Given the description of an element on the screen output the (x, y) to click on. 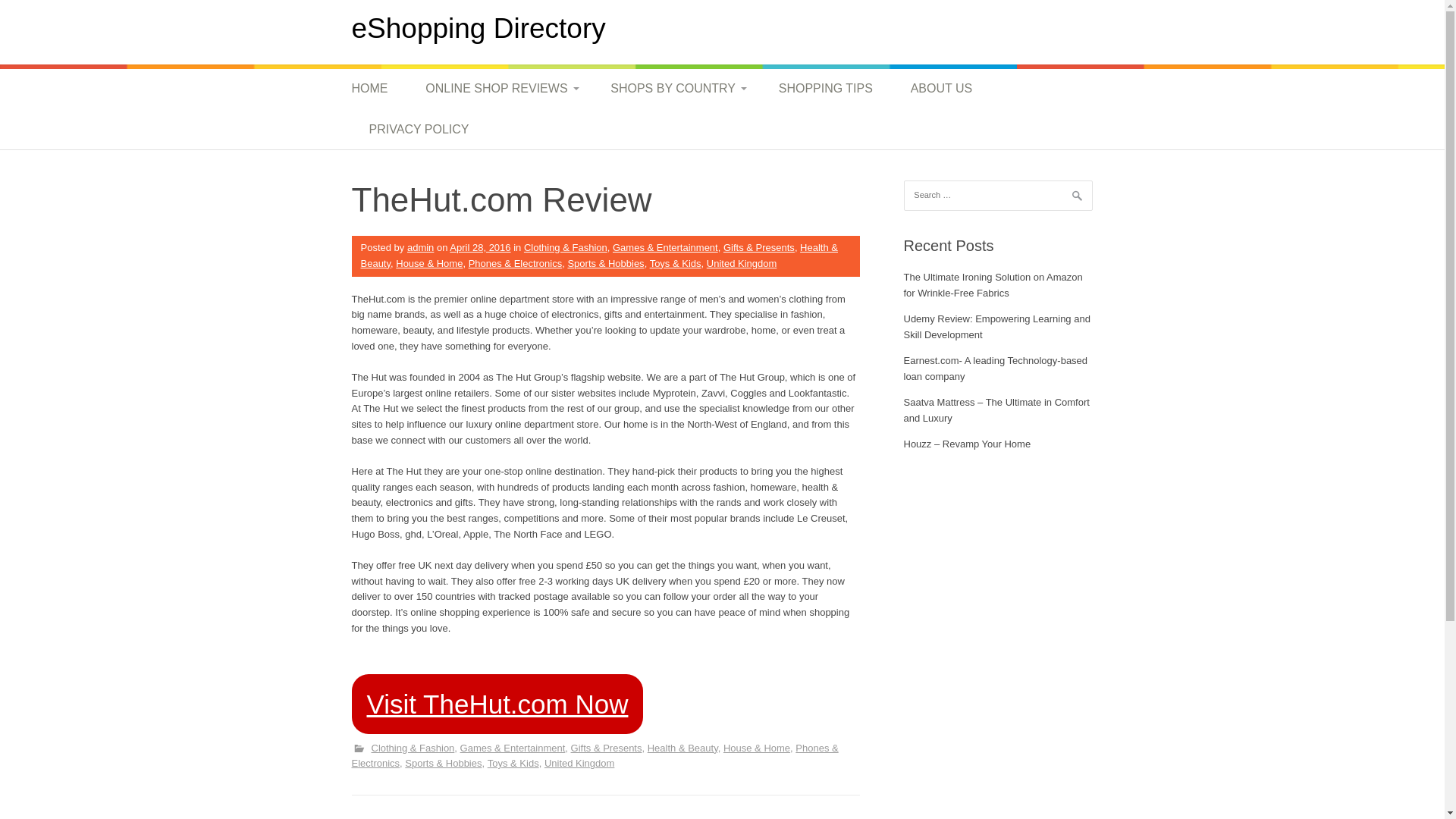
ASIA (669, 162)
ELECTRONICS (484, 656)
SHOPS BY COUNTRY (675, 87)
INDIA (821, 198)
INDONESIA (821, 233)
HONGKONG (821, 162)
KAZAKHSTAN (821, 304)
JAPAN (821, 268)
RUSSIAN FEDERATION (821, 384)
eShopping Directory (478, 28)
KENYA (821, 127)
AFRICA (669, 126)
NIGERIA (821, 162)
KOREA (821, 339)
ONLINE SHOP REVIEWS (498, 87)
